Given the description of an element on the screen output the (x, y) to click on. 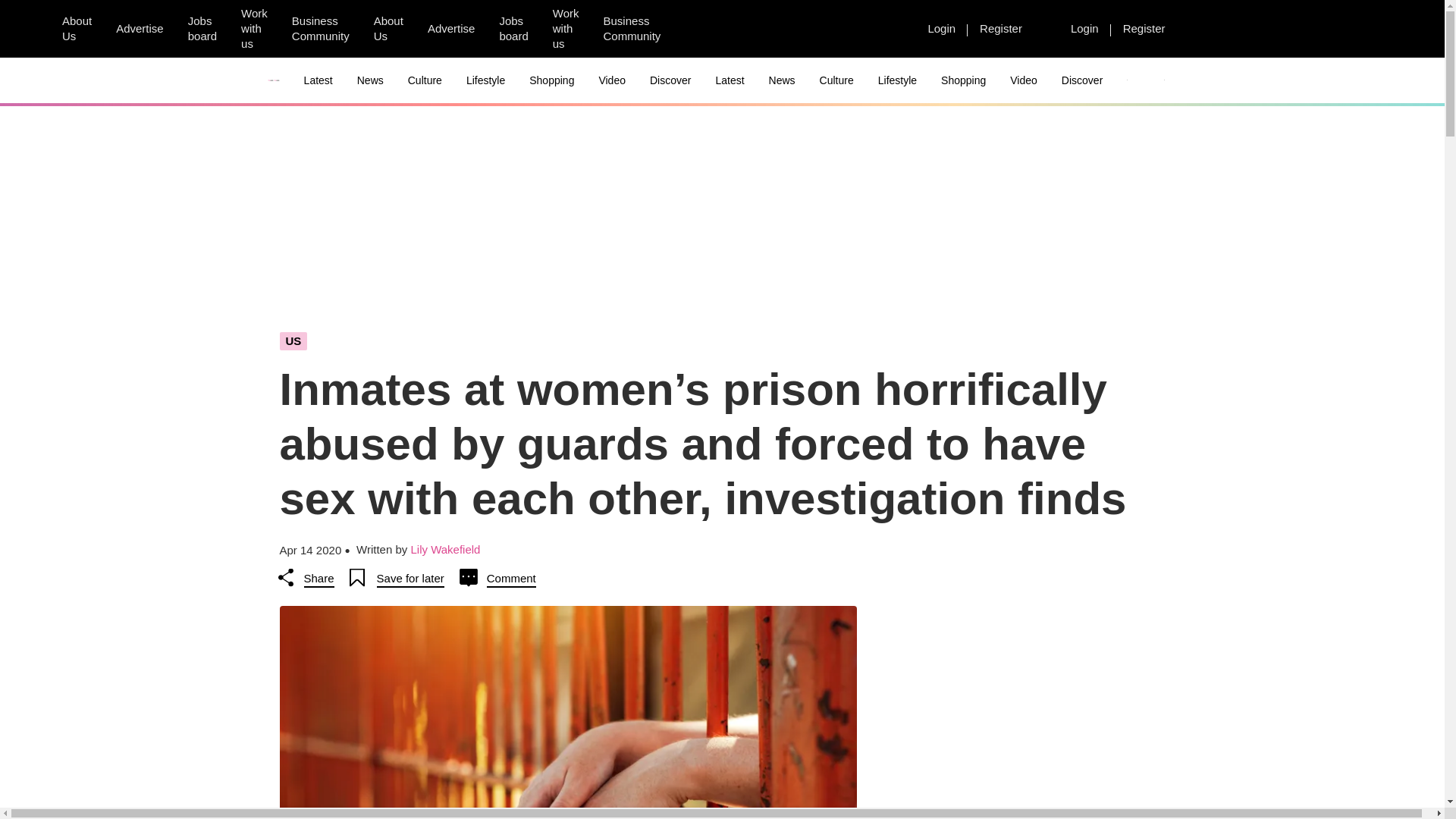
Jobs board (202, 28)
Login (1084, 28)
Follow PinkNews on LinkedIn (775, 28)
Login (941, 28)
Follow PinkNews on LinkedIn (885, 28)
Business Community (320, 28)
Work with us (565, 28)
Jobs board (513, 28)
Register (1143, 28)
Register (1000, 28)
Advertise (450, 28)
About Us (387, 28)
Latest (318, 79)
Advertise (139, 28)
About Us (76, 28)
